Given the description of an element on the screen output the (x, y) to click on. 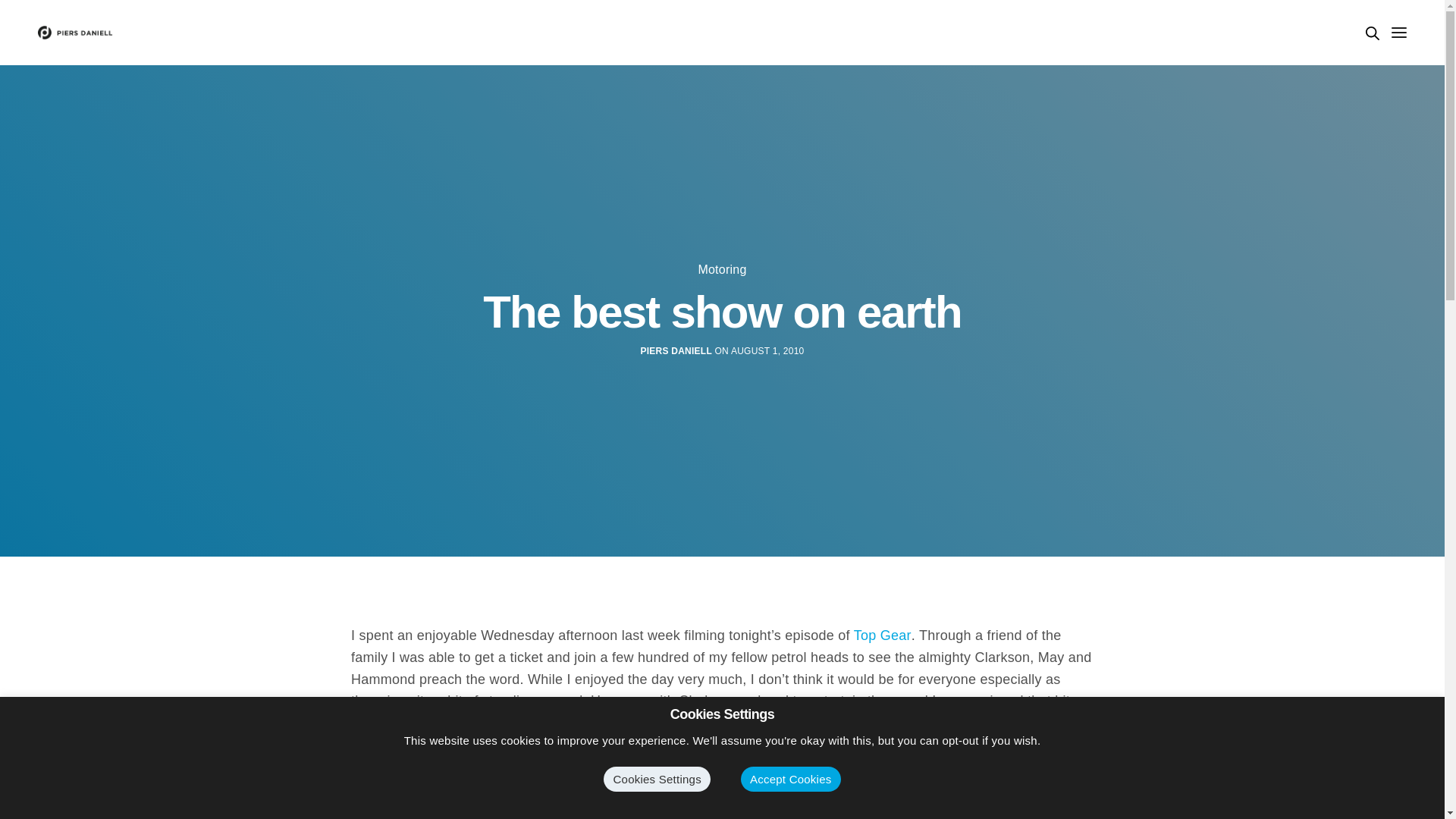
Top Gear (882, 635)
Search (1371, 33)
Motoring (721, 269)
Top Gear (882, 635)
Piers Daniell (75, 32)
Posts by Piers Daniell (675, 350)
PIERS DANIELL (675, 350)
